Given the description of an element on the screen output the (x, y) to click on. 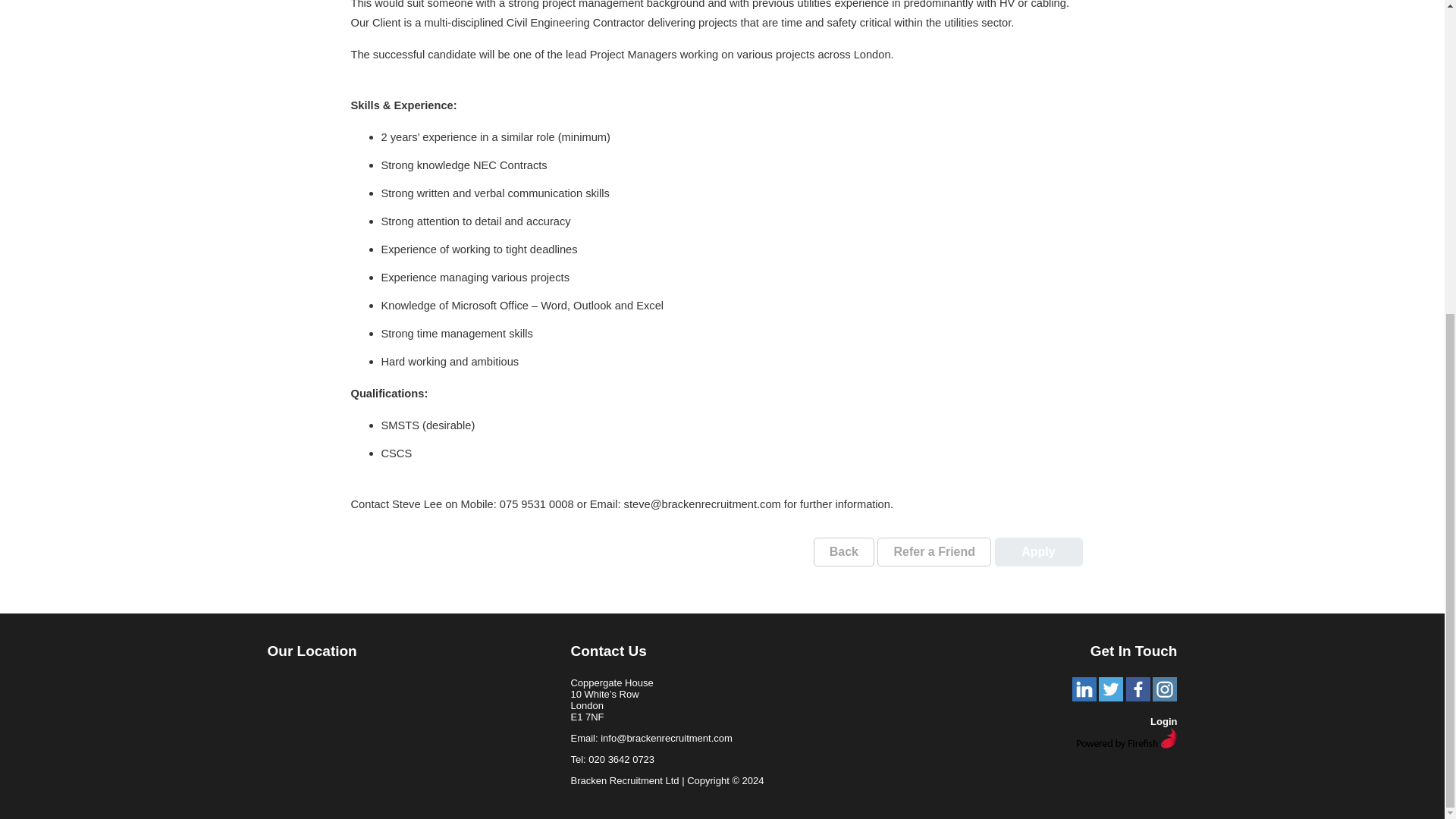
Refer a Friend (934, 551)
Recruitment Software - Firefish Software (1125, 745)
Apply (1038, 551)
Refer a Friend (934, 551)
Back (844, 551)
Back (844, 551)
Login (1163, 721)
